Given the description of an element on the screen output the (x, y) to click on. 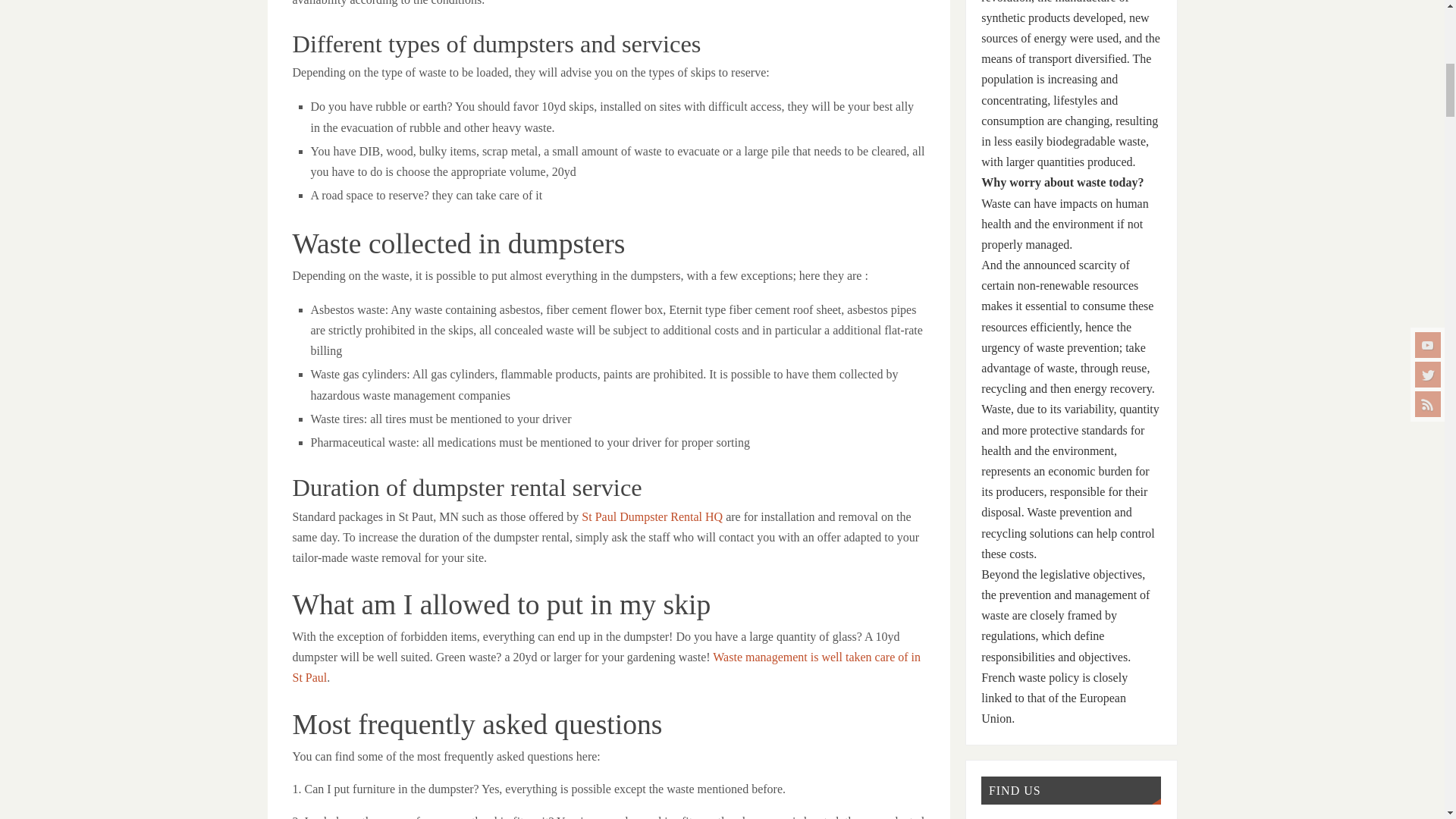
St Paul Dumpster Rental HQ (651, 516)
Waste management is well taken care of in St Paul (606, 666)
